Given the description of an element on the screen output the (x, y) to click on. 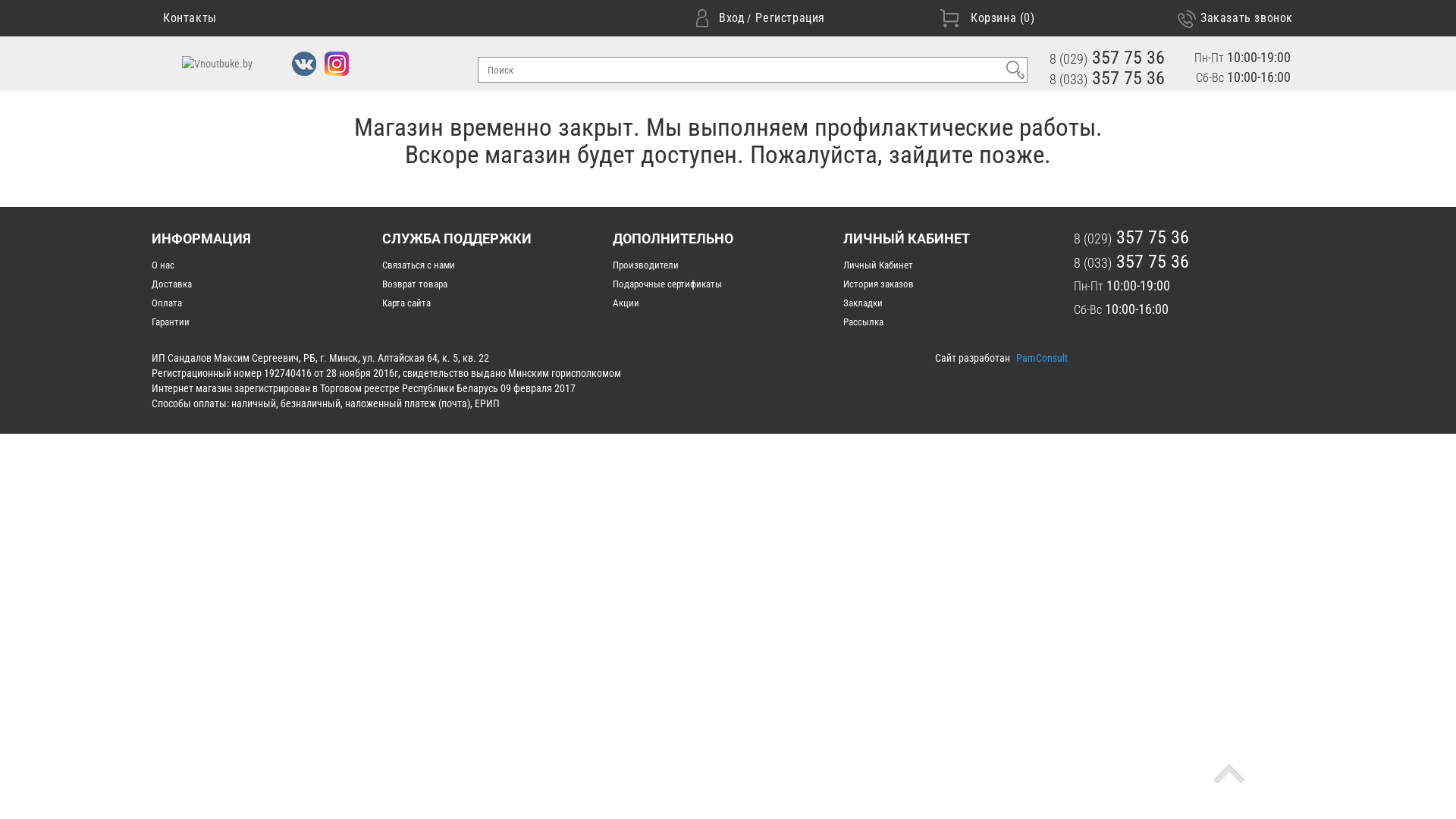
Vnoutbuke.by Element type: hover (217, 63)
PamConsult Element type: text (1041, 357)
vk Element type: hover (303, 63)
8 (033) 357 75 36 Element type: text (1106, 77)
8 (029) 357 75 36 Element type: text (1106, 57)
